Given the description of an element on the screen output the (x, y) to click on. 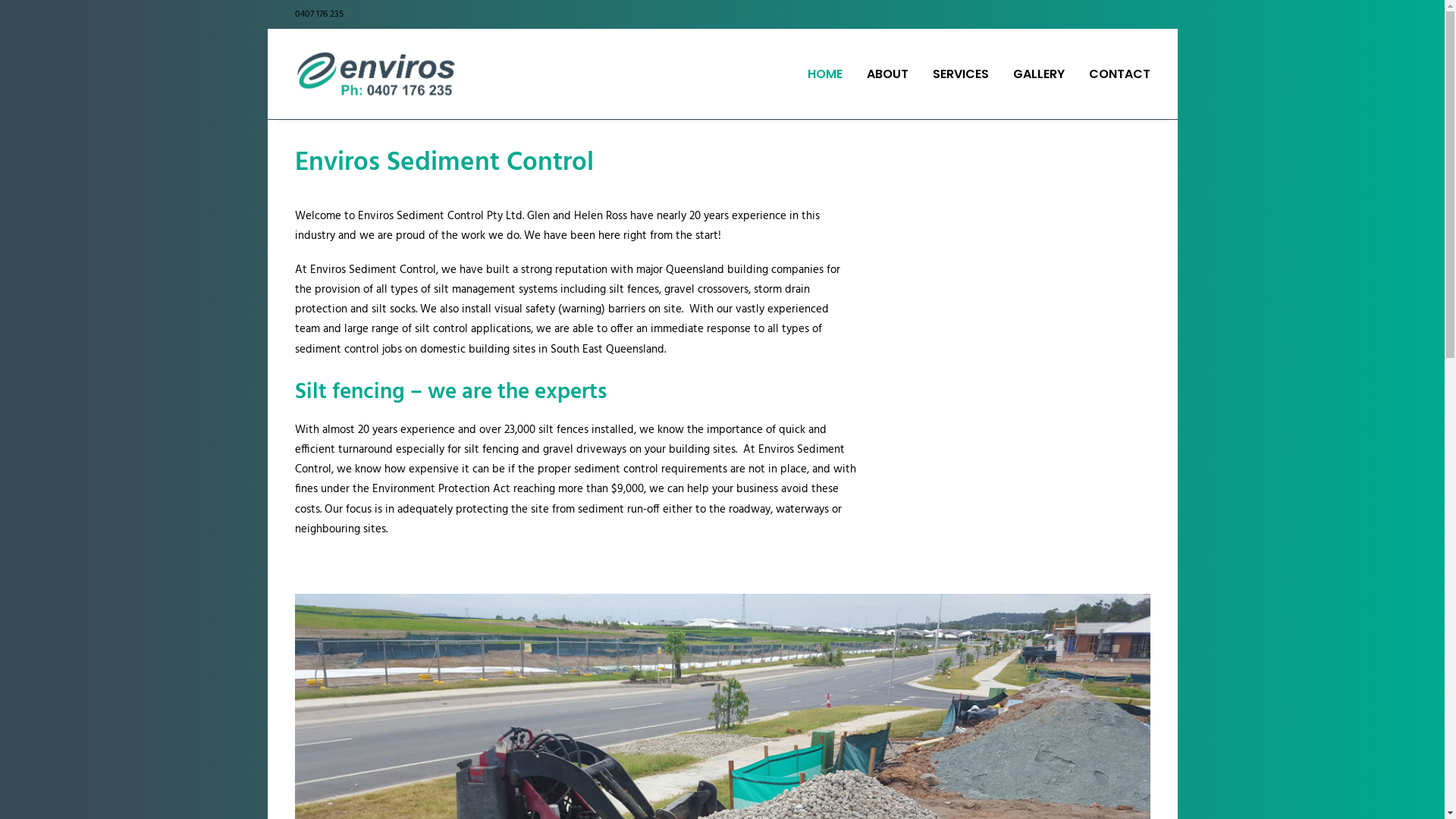
GALLERY Element type: text (1038, 73)
SERVICES Element type: text (960, 73)
ABOUT Element type: text (886, 73)
HOME Element type: text (829, 73)
CONTACT Element type: text (1114, 73)
